Given the description of an element on the screen output the (x, y) to click on. 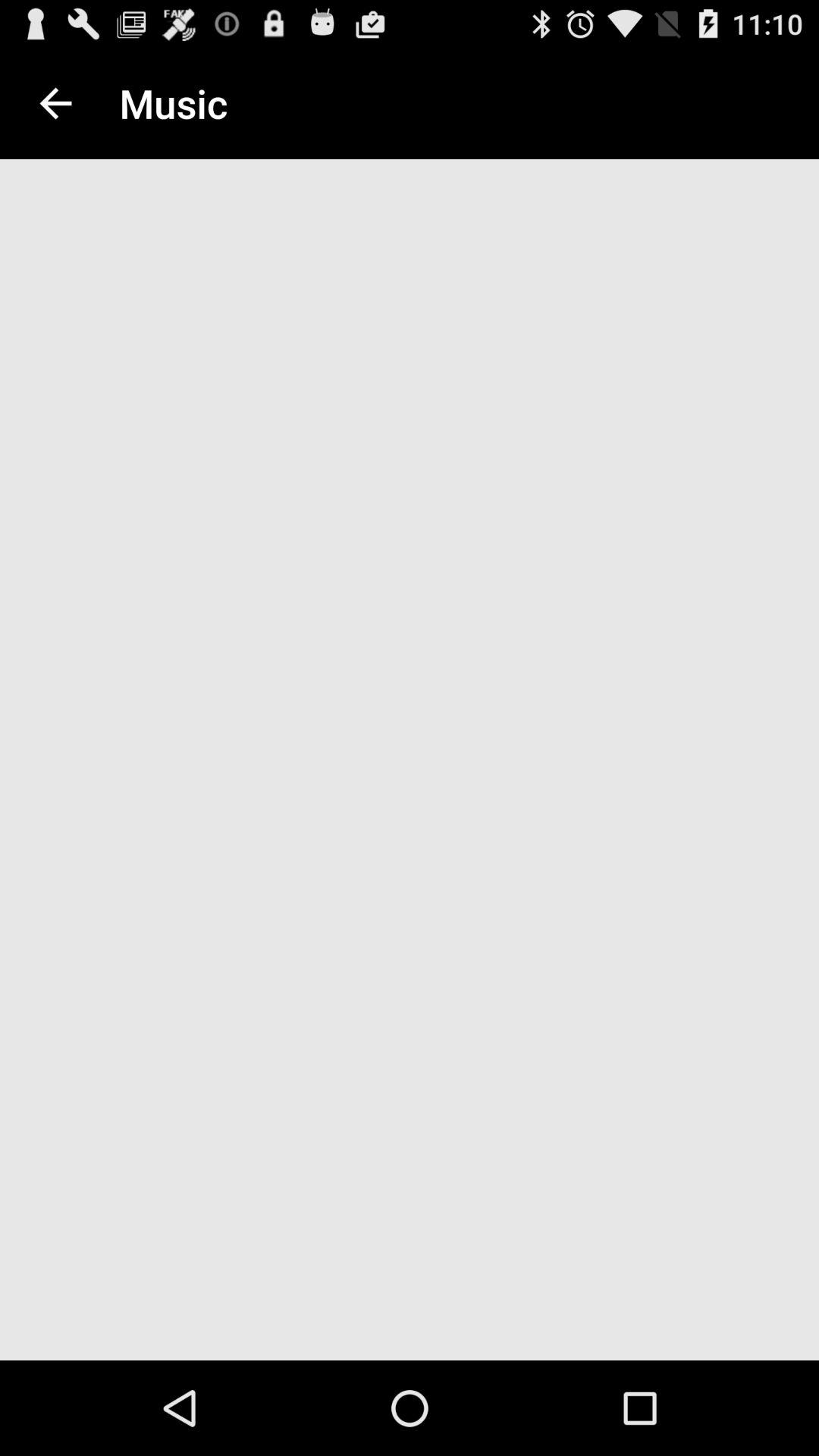
turn on app to the left of the music (55, 103)
